Given the description of an element on the screen output the (x, y) to click on. 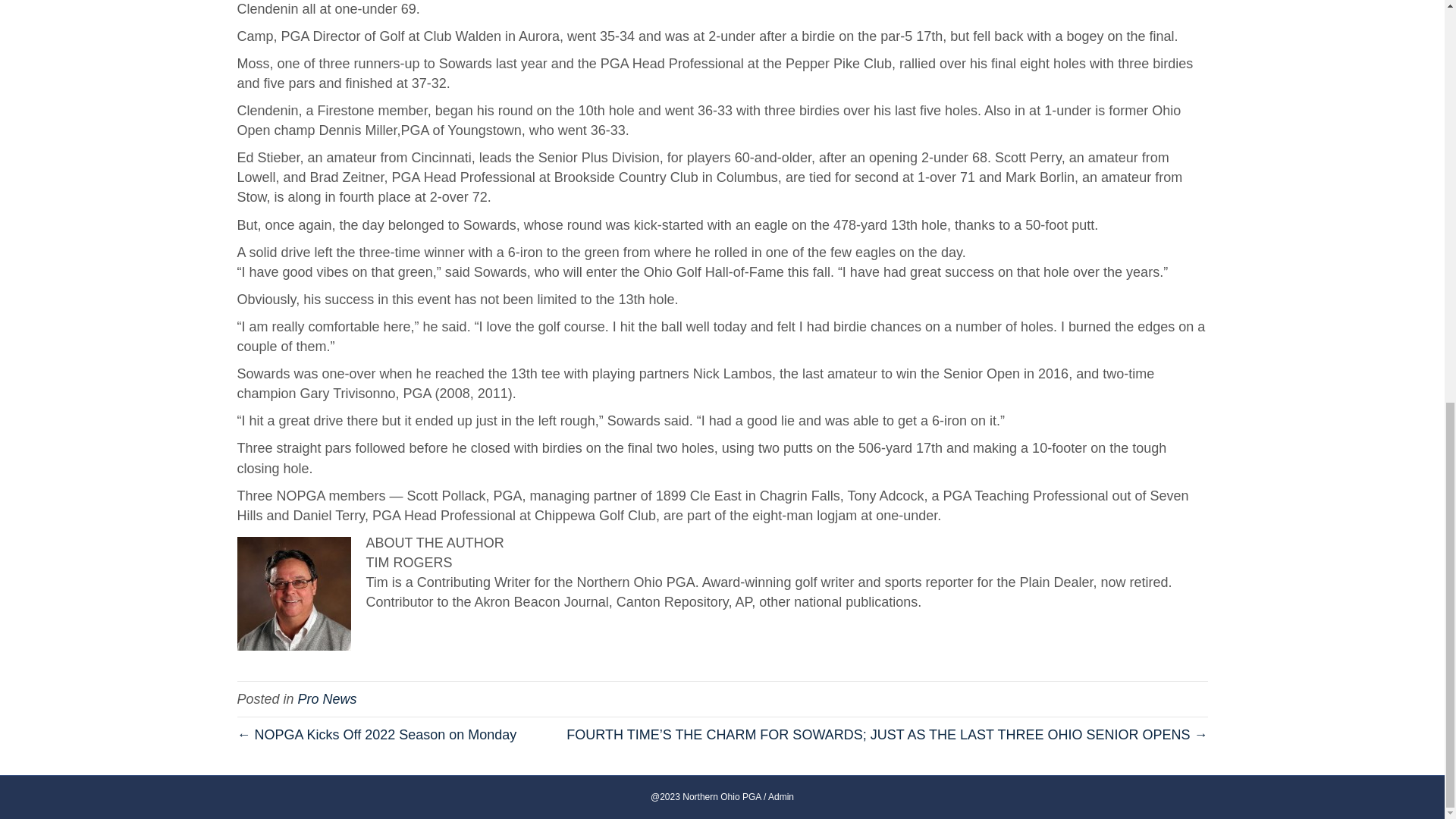
Admin (780, 796)
Pro News (327, 698)
